Given the description of an element on the screen output the (x, y) to click on. 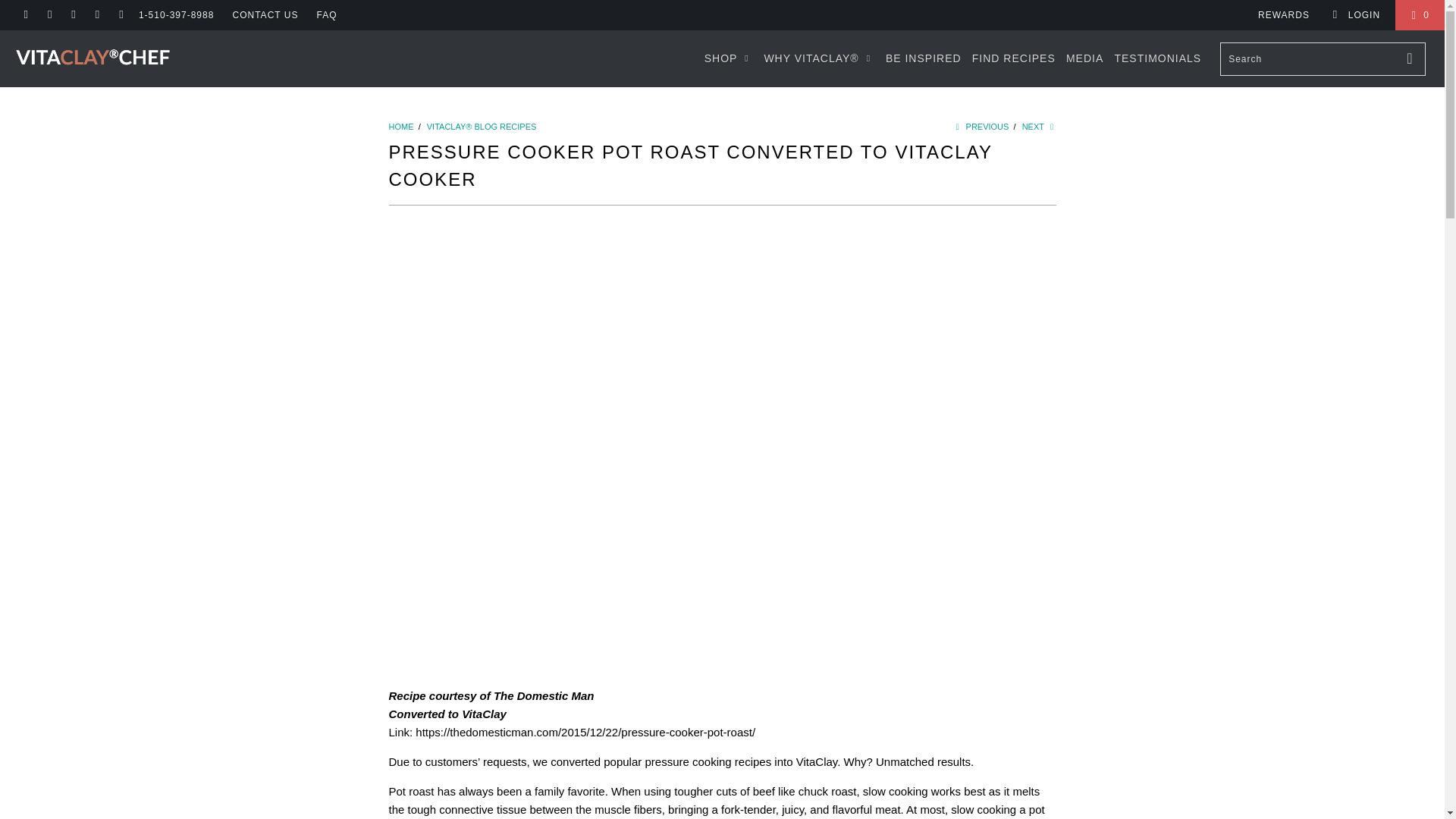
1-510-397-8988 (176, 15)
My Account  (1355, 15)
CONTACT US (265, 15)
